Given the description of an element on the screen output the (x, y) to click on. 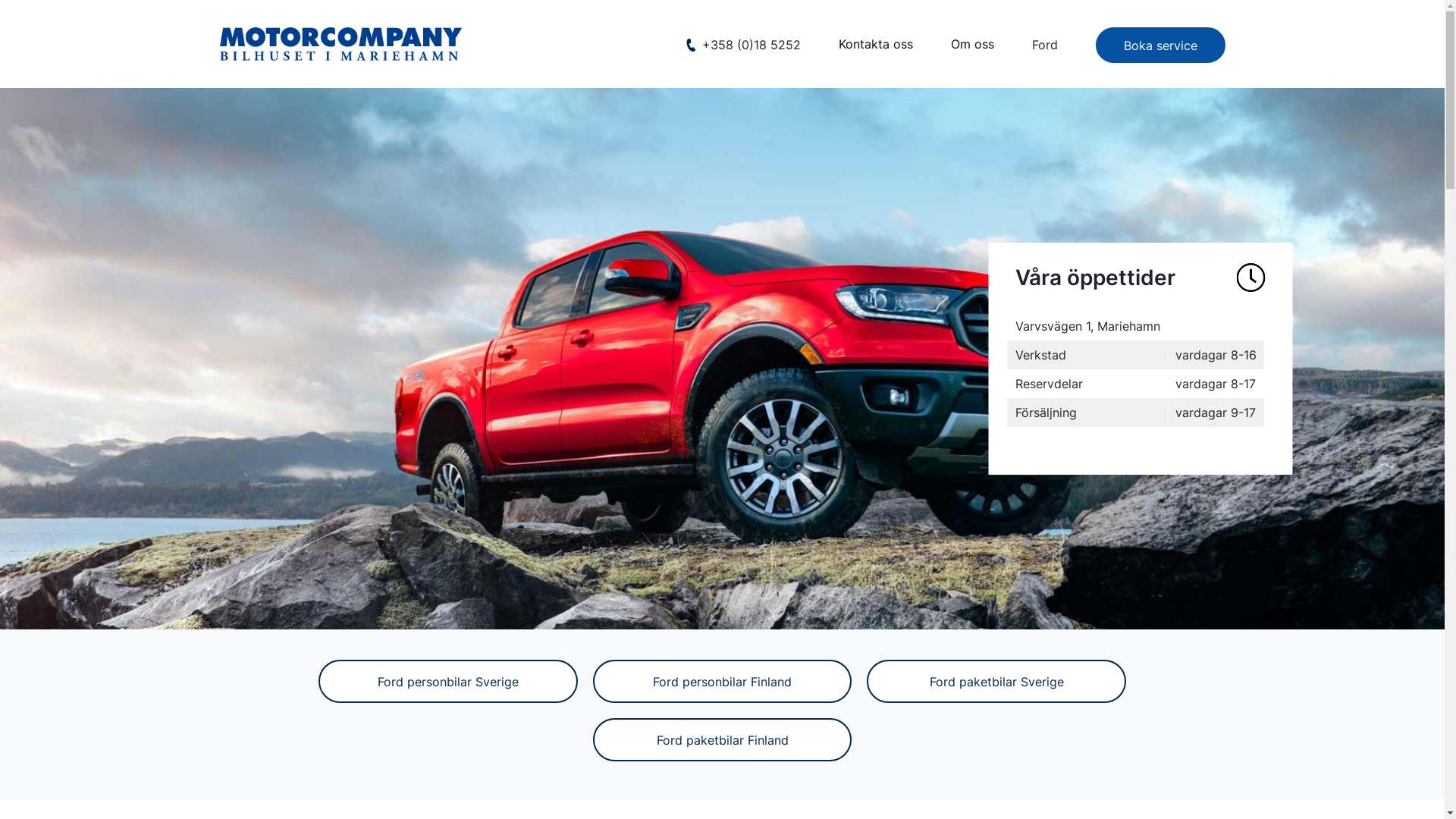
Ford Element type: text (1044, 44)
Om oss Element type: text (972, 44)
Ford paketbilar Finland Element type: text (722, 739)
Ford personbilar Sverige Element type: text (447, 680)
Boka service Element type: text (1159, 44)
Ford paketbilar Sverige Element type: text (996, 680)
Kontakta oss Element type: text (875, 44)
Ford personbilar Finland Element type: text (722, 680)
